Given the description of an element on the screen output the (x, y) to click on. 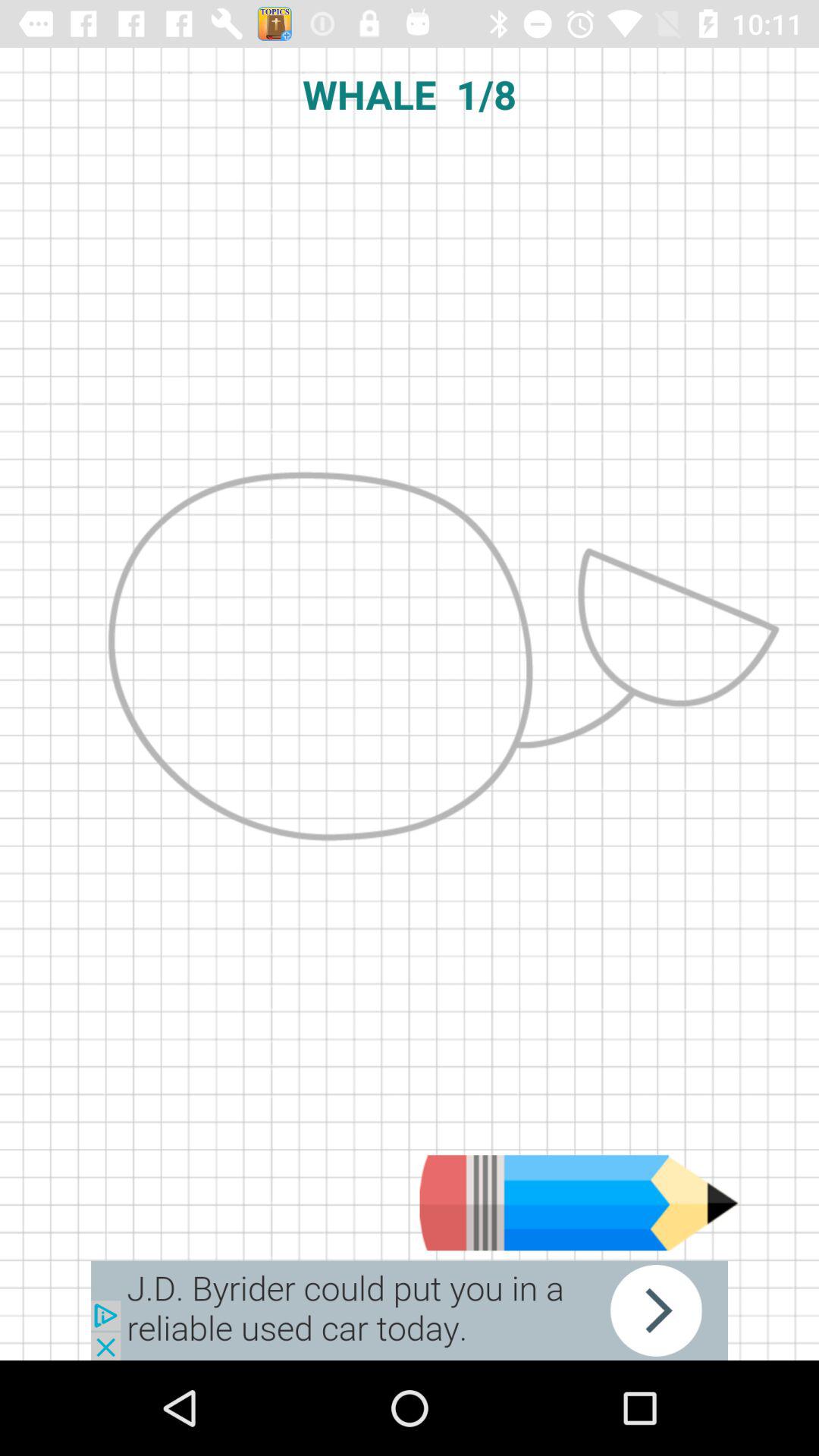
pencil (578, 1202)
